Given the description of an element on the screen output the (x, y) to click on. 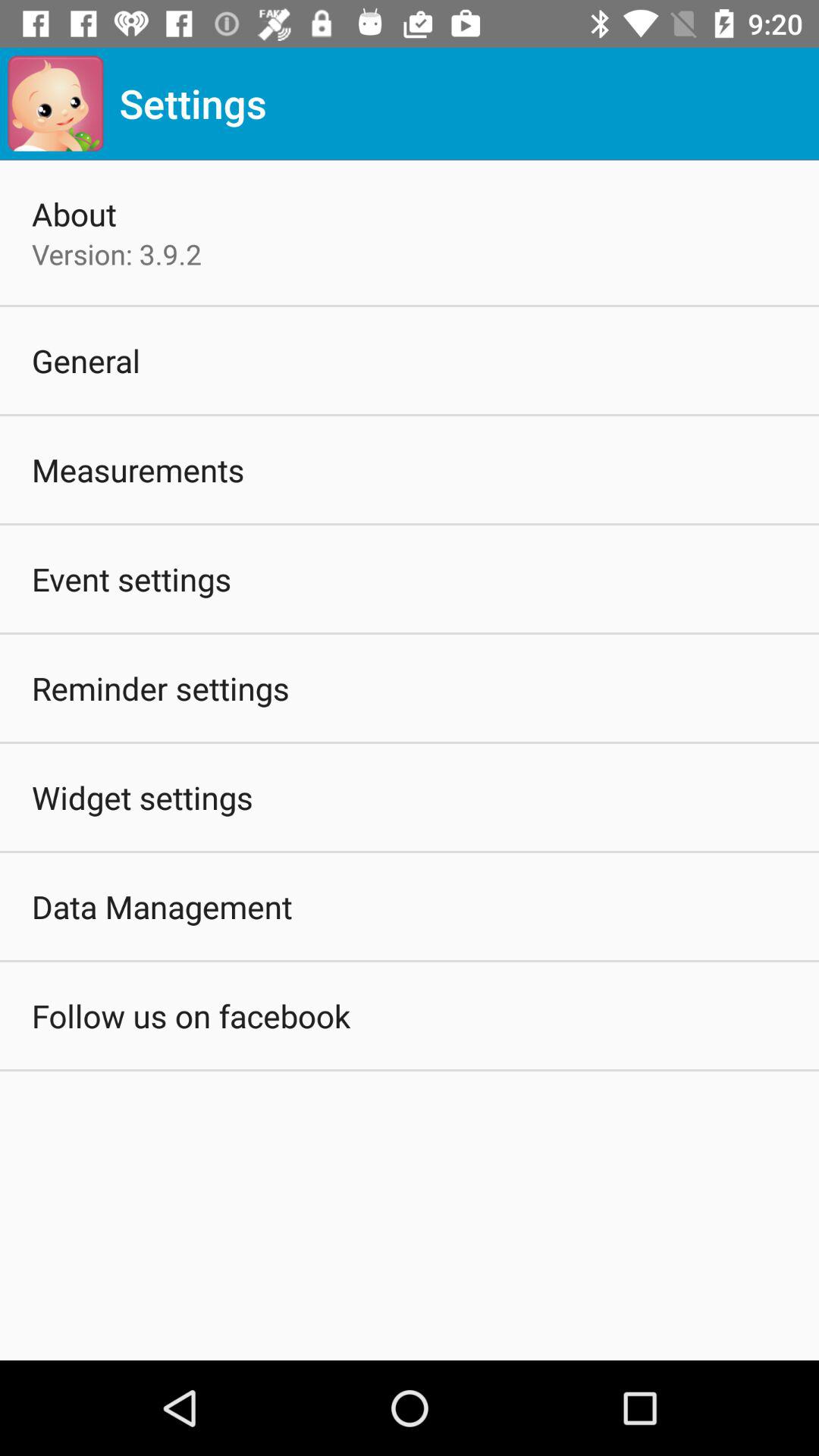
turn off item below measurements icon (131, 578)
